Given the description of an element on the screen output the (x, y) to click on. 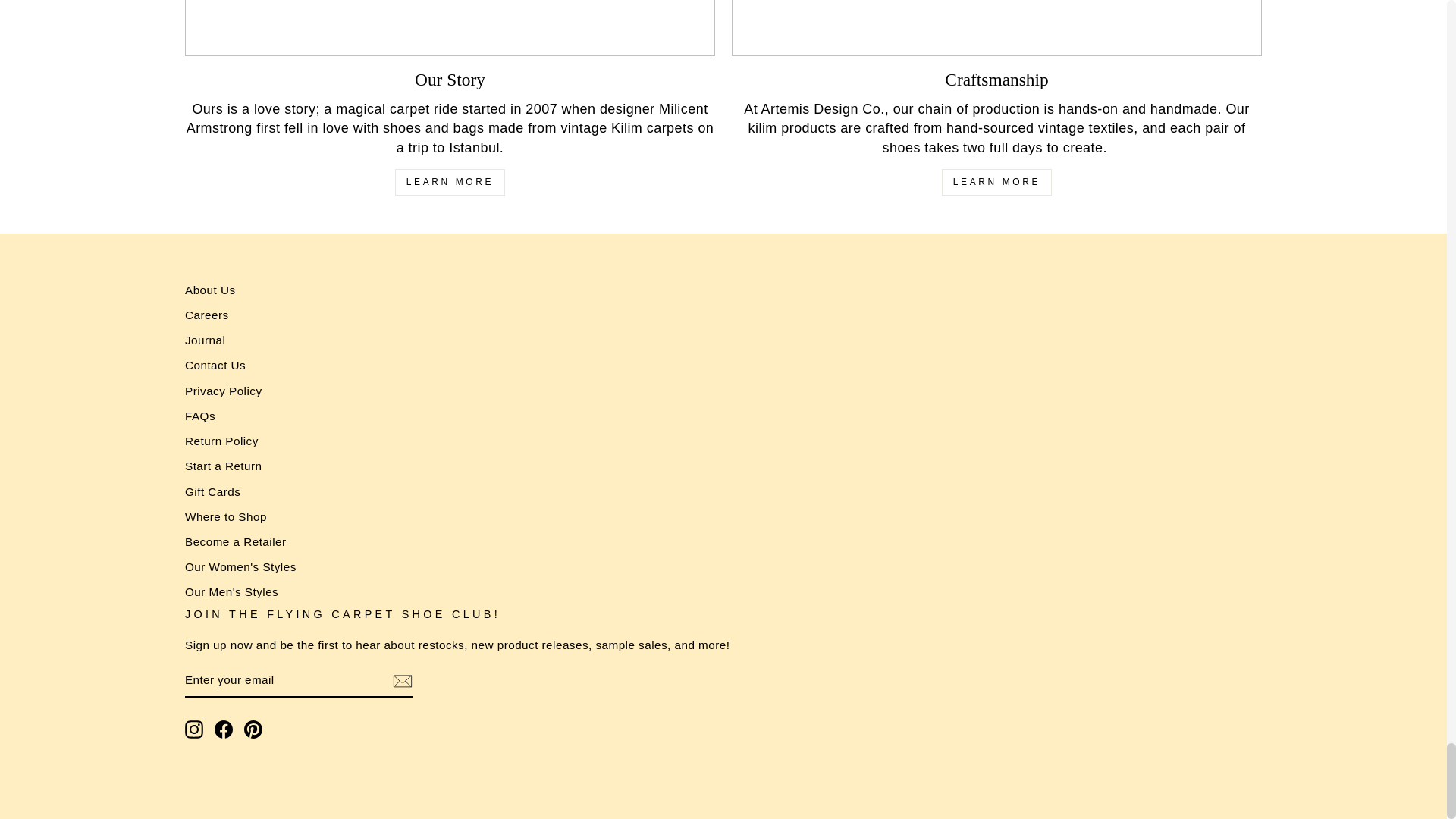
Artemis Design Co. on Facebook (223, 729)
Artemis Design Co. on Instagram (193, 729)
Artemis Design Co. on Pinterest (253, 729)
